Given the description of an element on the screen output the (x, y) to click on. 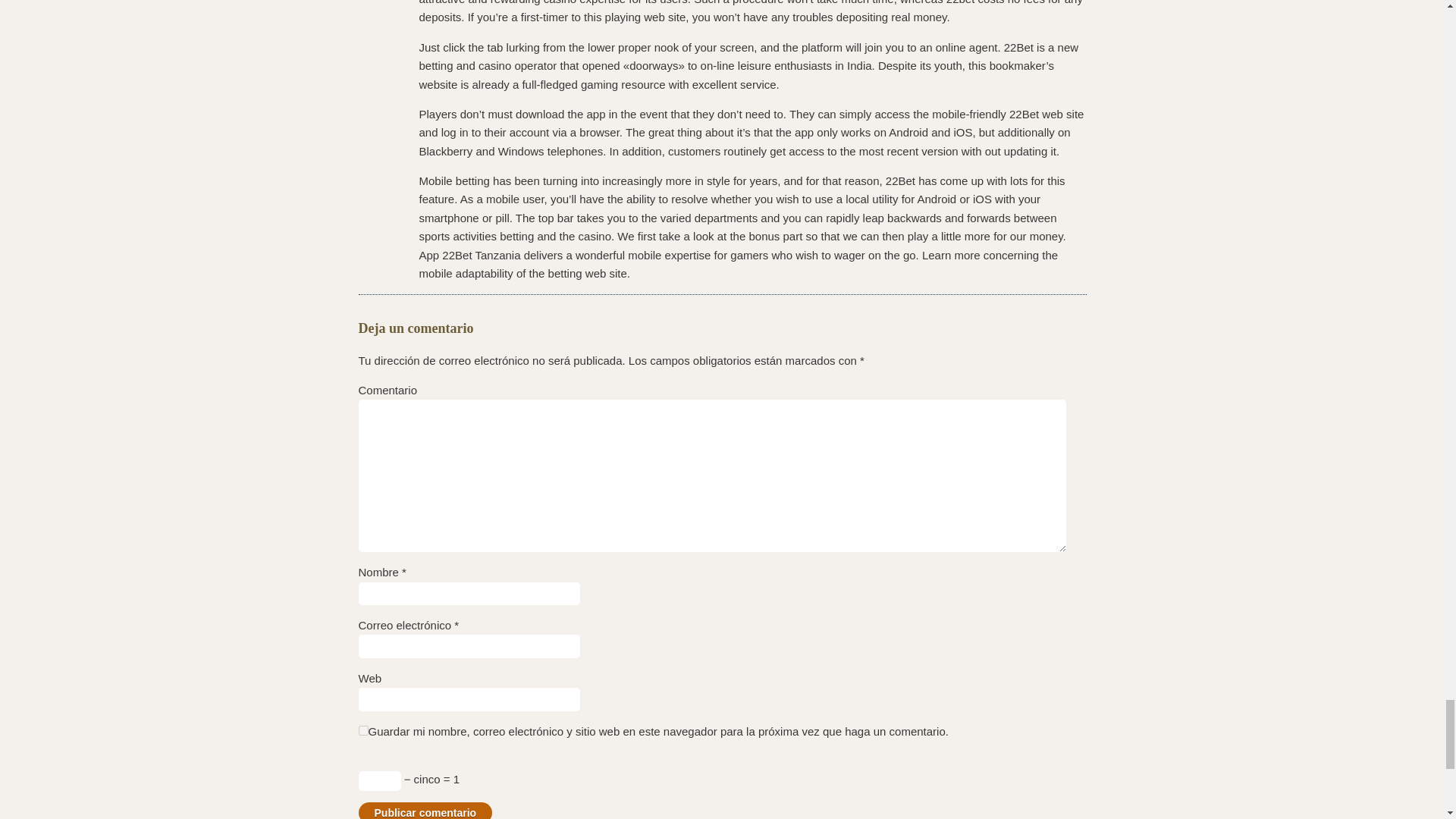
Publicar comentario (425, 810)
Publicar comentario (425, 810)
yes (363, 729)
